Given the description of an element on the screen output the (x, y) to click on. 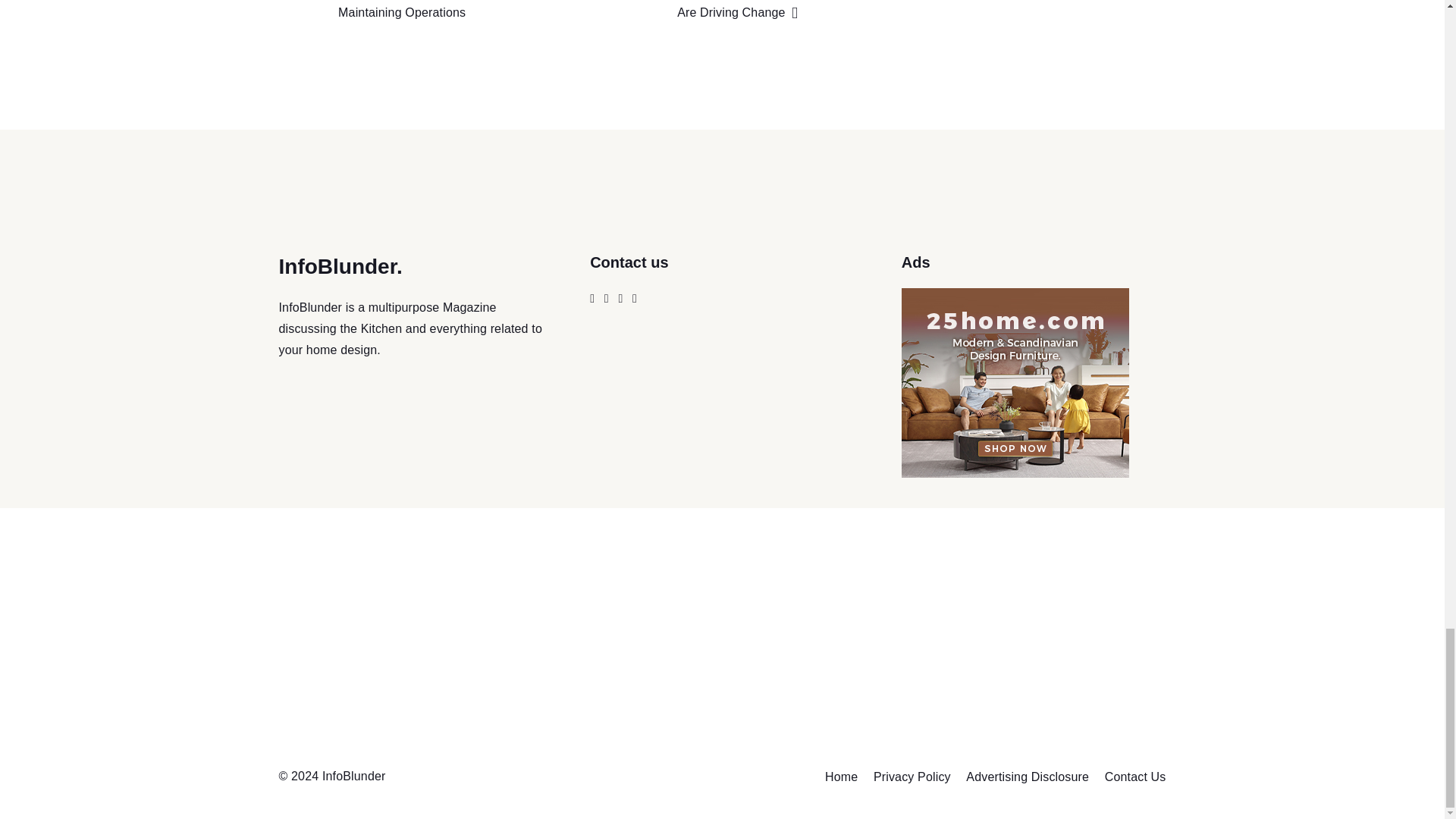
Advertising Disclosure (1027, 776)
Home (841, 776)
Contact Us (1135, 776)
Privacy Policy (911, 776)
